Given the description of an element on the screen output the (x, y) to click on. 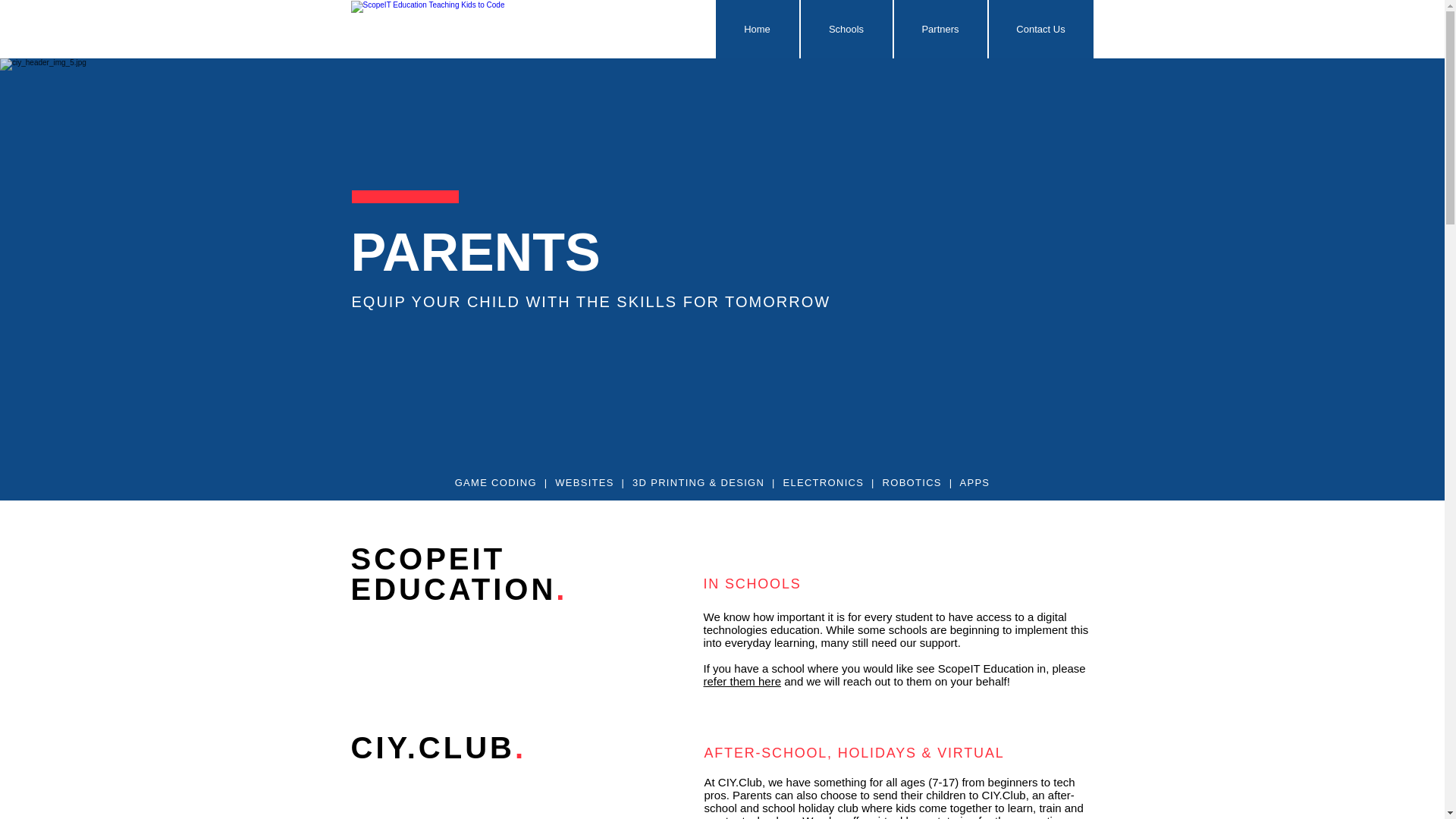
refer them here (742, 680)
Home (757, 29)
ScopeIT Education Teaching Kids to Code (435, 36)
Schools (846, 29)
Partners (940, 29)
Contact Us (1040, 29)
